Given the description of an element on the screen output the (x, y) to click on. 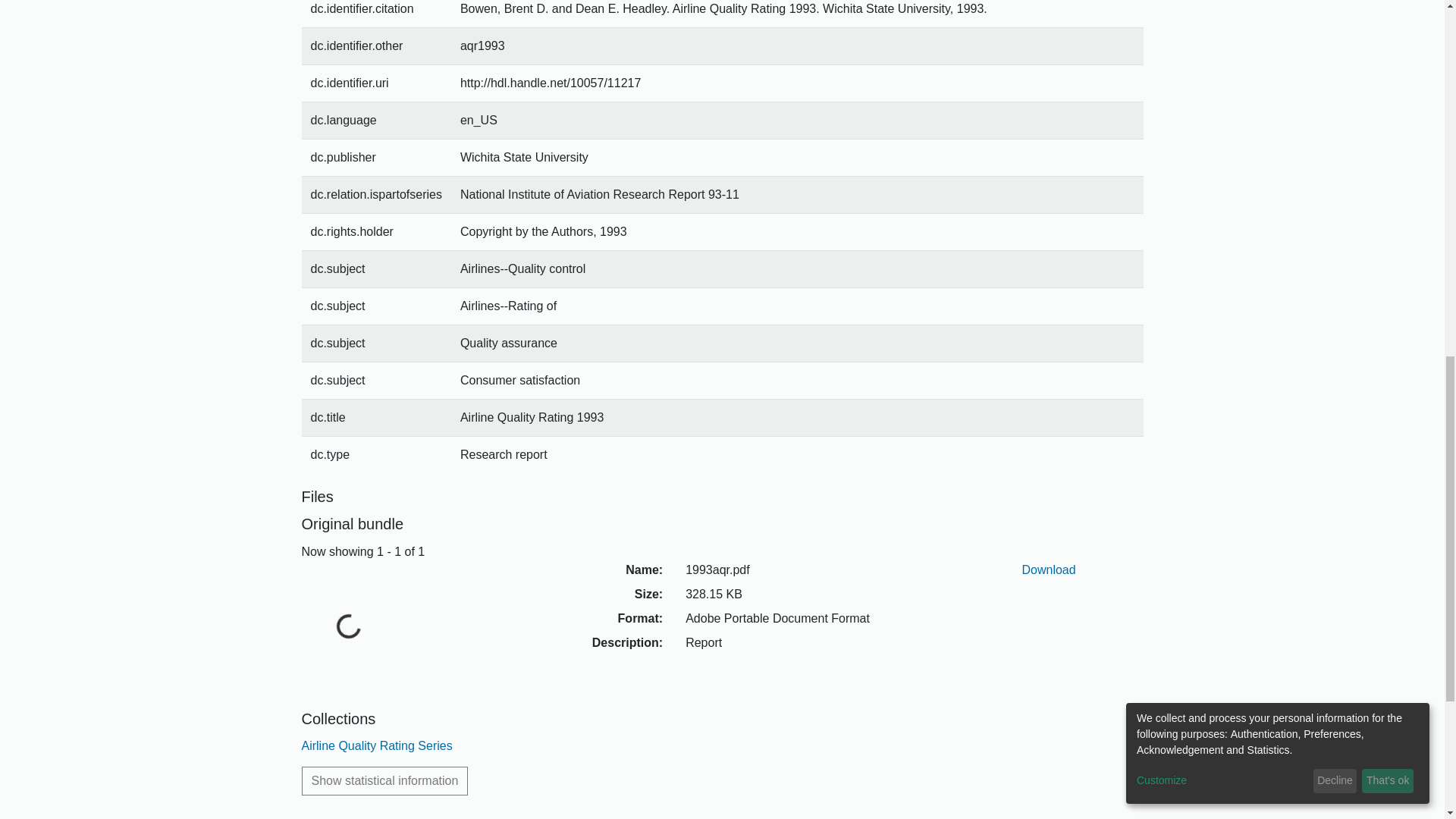
Airline Quality Rating Series (376, 745)
Show statistical information (384, 780)
Download (1048, 569)
